Given the description of an element on the screen output the (x, y) to click on. 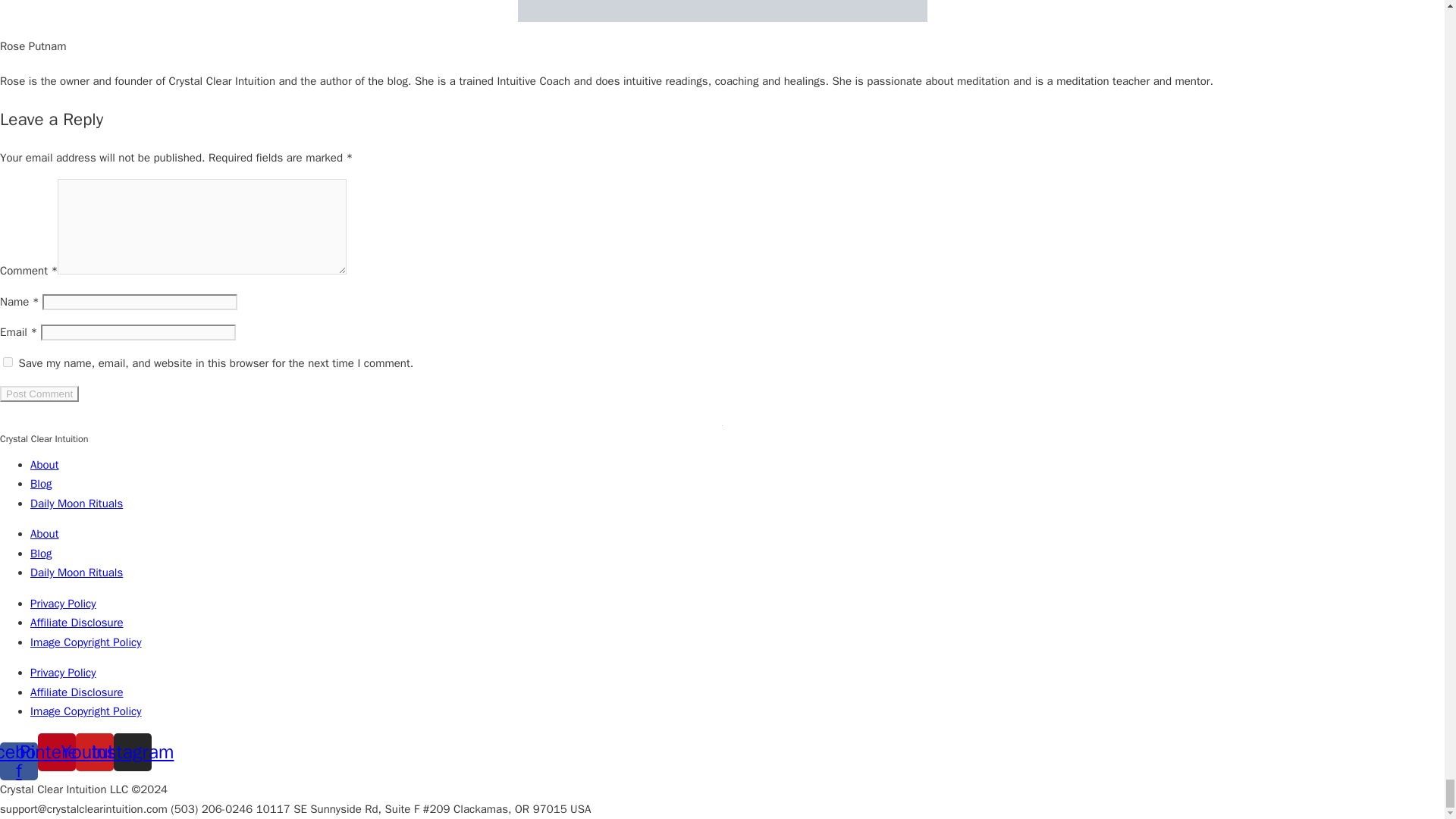
Daily Moon Rituals (76, 572)
Youtube (94, 752)
Facebook-f (18, 761)
Privacy Policy (63, 603)
Image Copyright Policy (85, 711)
Instagram (132, 752)
Affiliate Disclosure (76, 692)
Post Comment (39, 393)
Blog (40, 483)
About (44, 464)
